Given the description of an element on the screen output the (x, y) to click on. 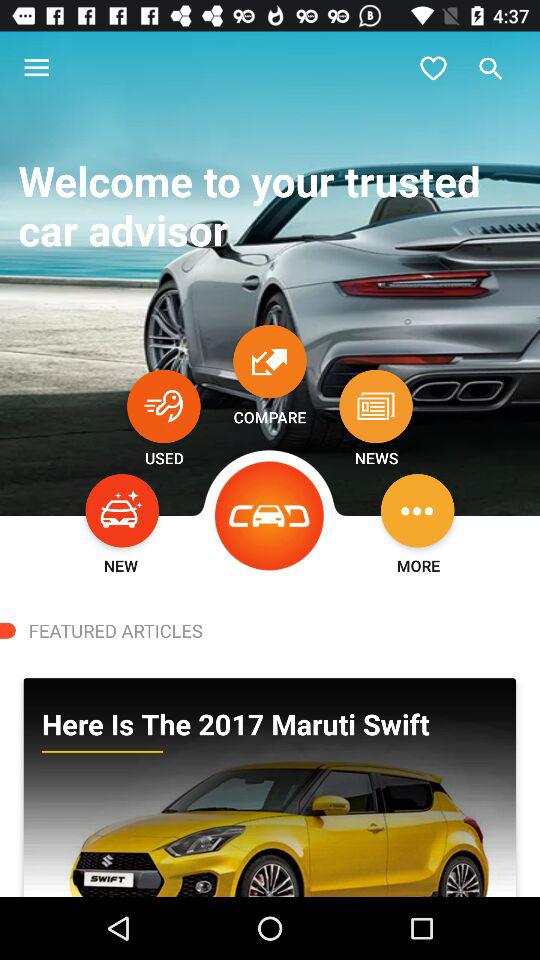
go do search box (491, 68)
